Given the description of an element on the screen output the (x, y) to click on. 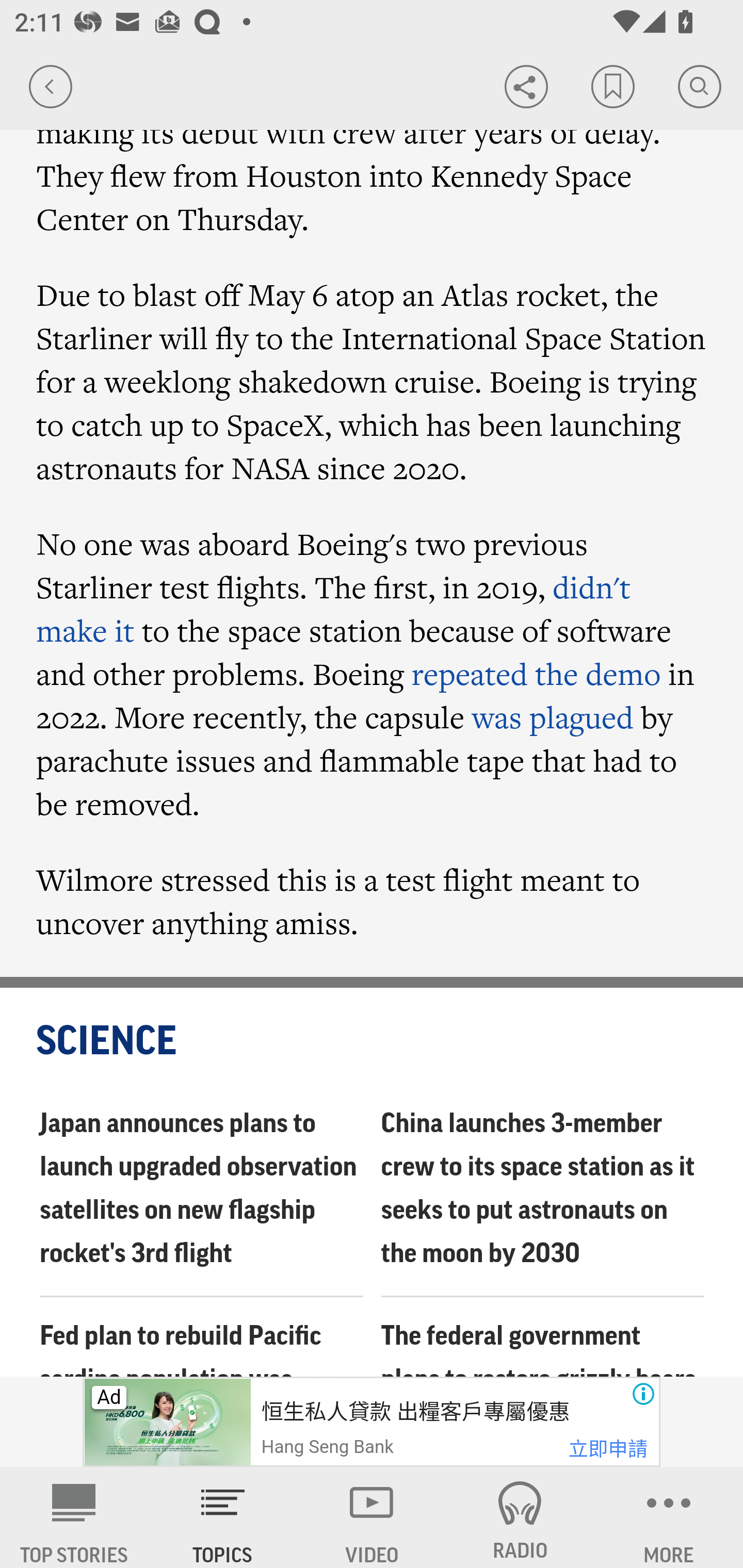
didn't make it (334, 609)
repeated the demo (535, 674)
was plagued (552, 717)
SCIENCE (372, 1042)
恒生私人貸款 出糧客戶專屬優惠 (414, 1411)
Hang Seng Bank (326, 1447)
立即申請 (607, 1449)
AP News TOP STORIES (74, 1517)
TOPICS (222, 1517)
VIDEO (371, 1517)
RADIO (519, 1517)
MORE (668, 1517)
